Given the description of an element on the screen output the (x, y) to click on. 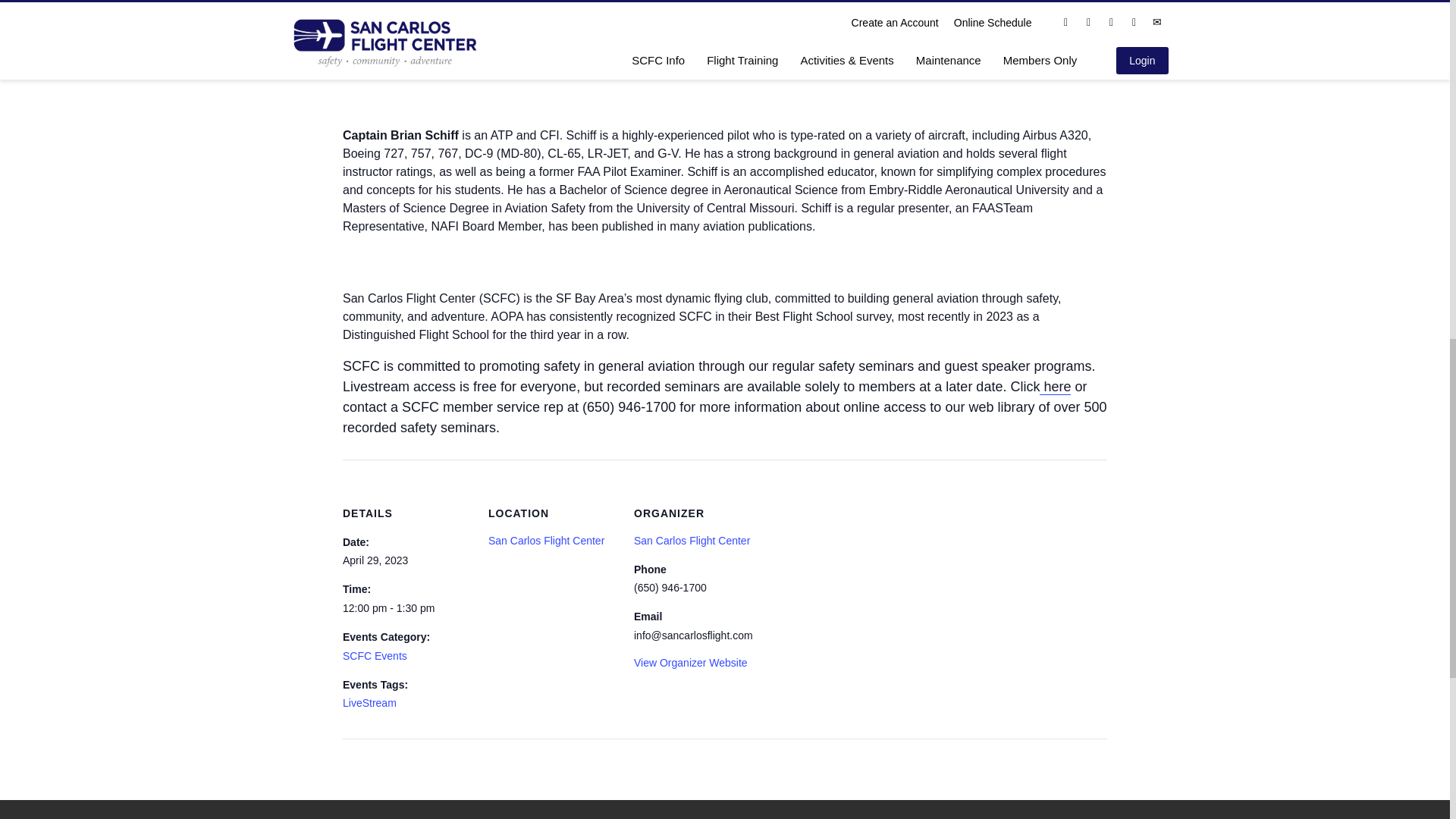
2023-04-29 (374, 560)
San Carlos Flight Center (691, 540)
2023-04-29 (406, 608)
